Given the description of an element on the screen output the (x, y) to click on. 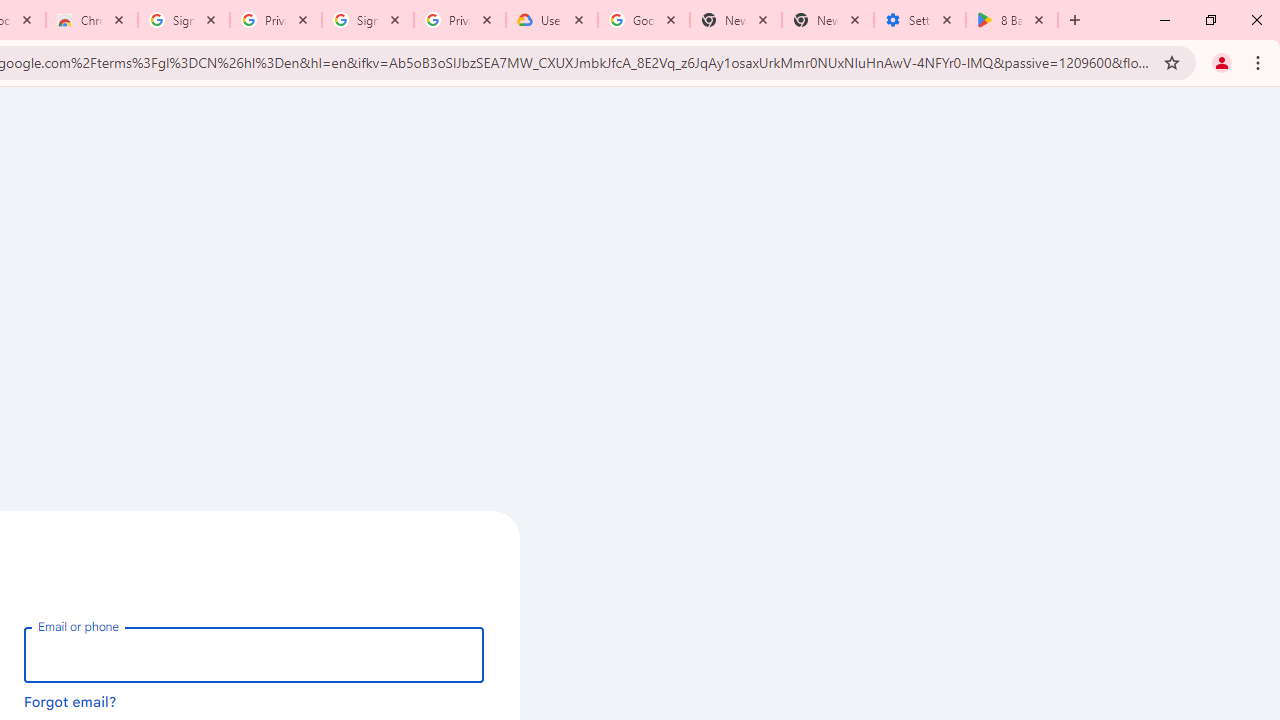
Sign in - Google Accounts (184, 20)
Settings - System (920, 20)
Chrome Web Store - Color themes by Chrome (92, 20)
Sign in - Google Accounts (367, 20)
New Tab (828, 20)
8 Ball Pool - Apps on Google Play (1012, 20)
